Given the description of an element on the screen output the (x, y) to click on. 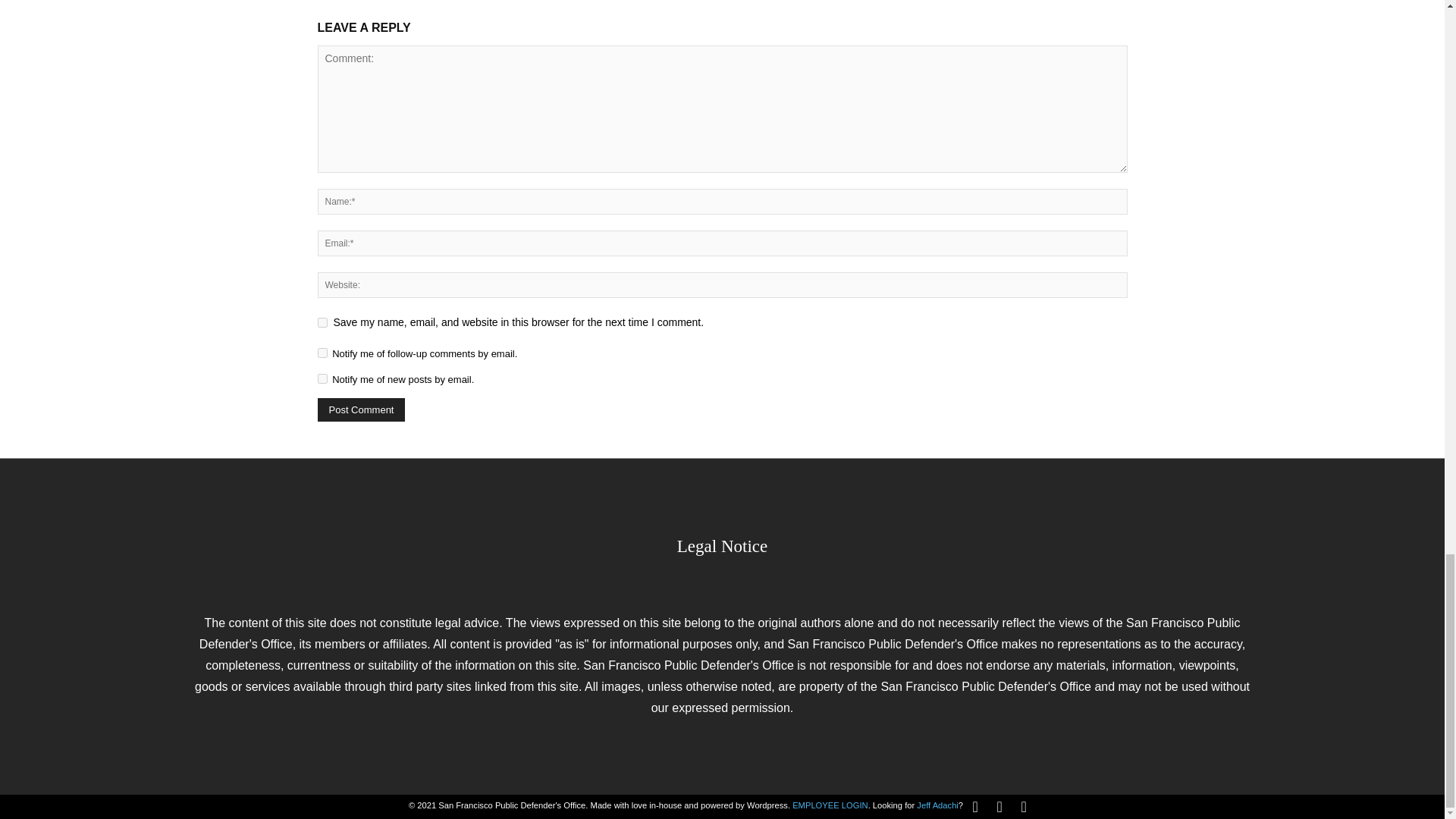
Post Comment (360, 409)
yes (321, 322)
subscribe (321, 378)
subscribe (321, 352)
